Given the description of an element on the screen output the (x, y) to click on. 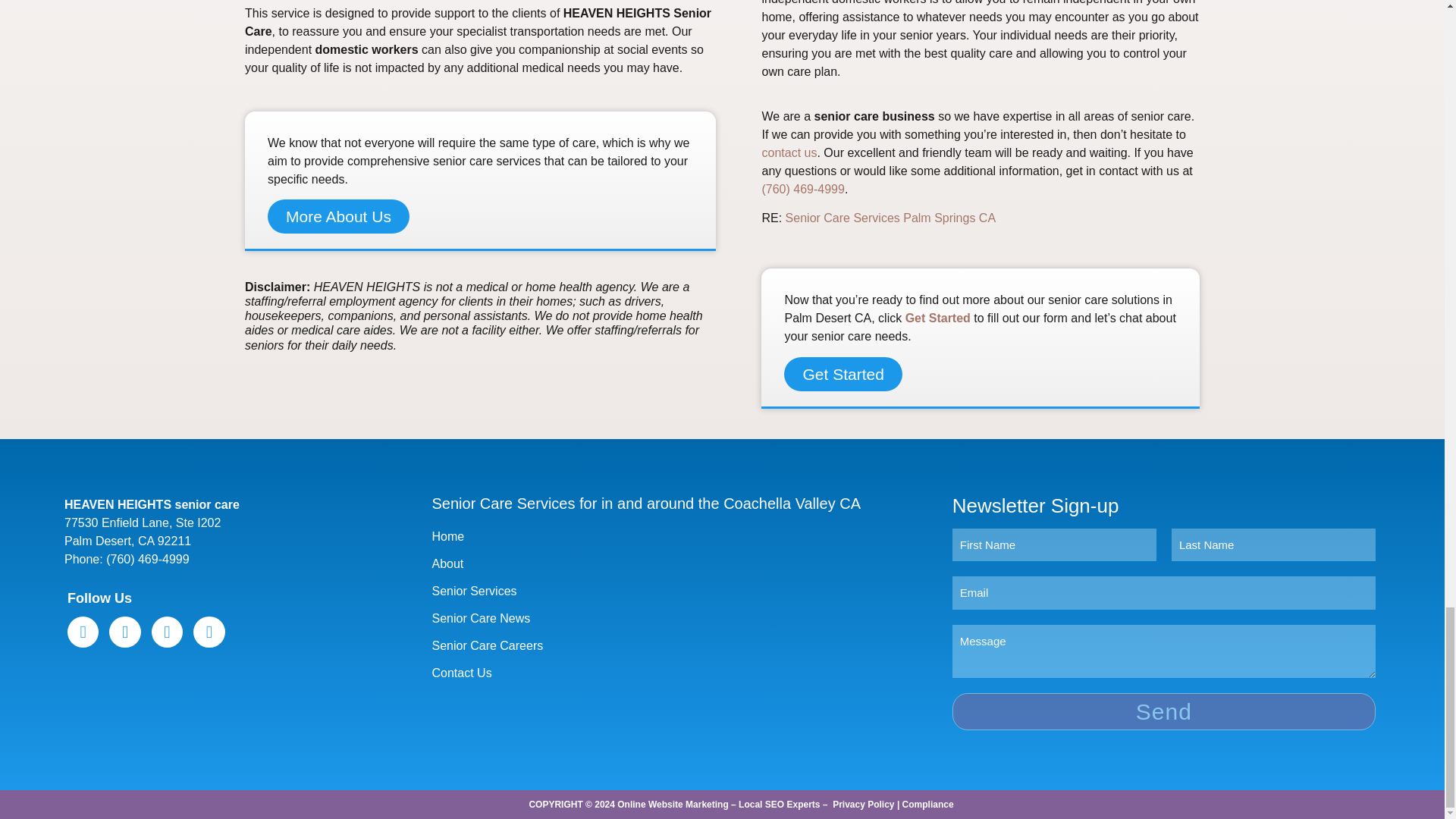
contact us (788, 152)
Senior Care Services Palm Springs CA (890, 217)
Compliance (927, 804)
Get Started (938, 318)
In Home care Services Carlsbad CA (890, 217)
Online Website Marketing - Local SEO Experts (718, 804)
Get Started (842, 374)
More About Us (338, 216)
Privacy Policy (862, 804)
